Given the description of an element on the screen output the (x, y) to click on. 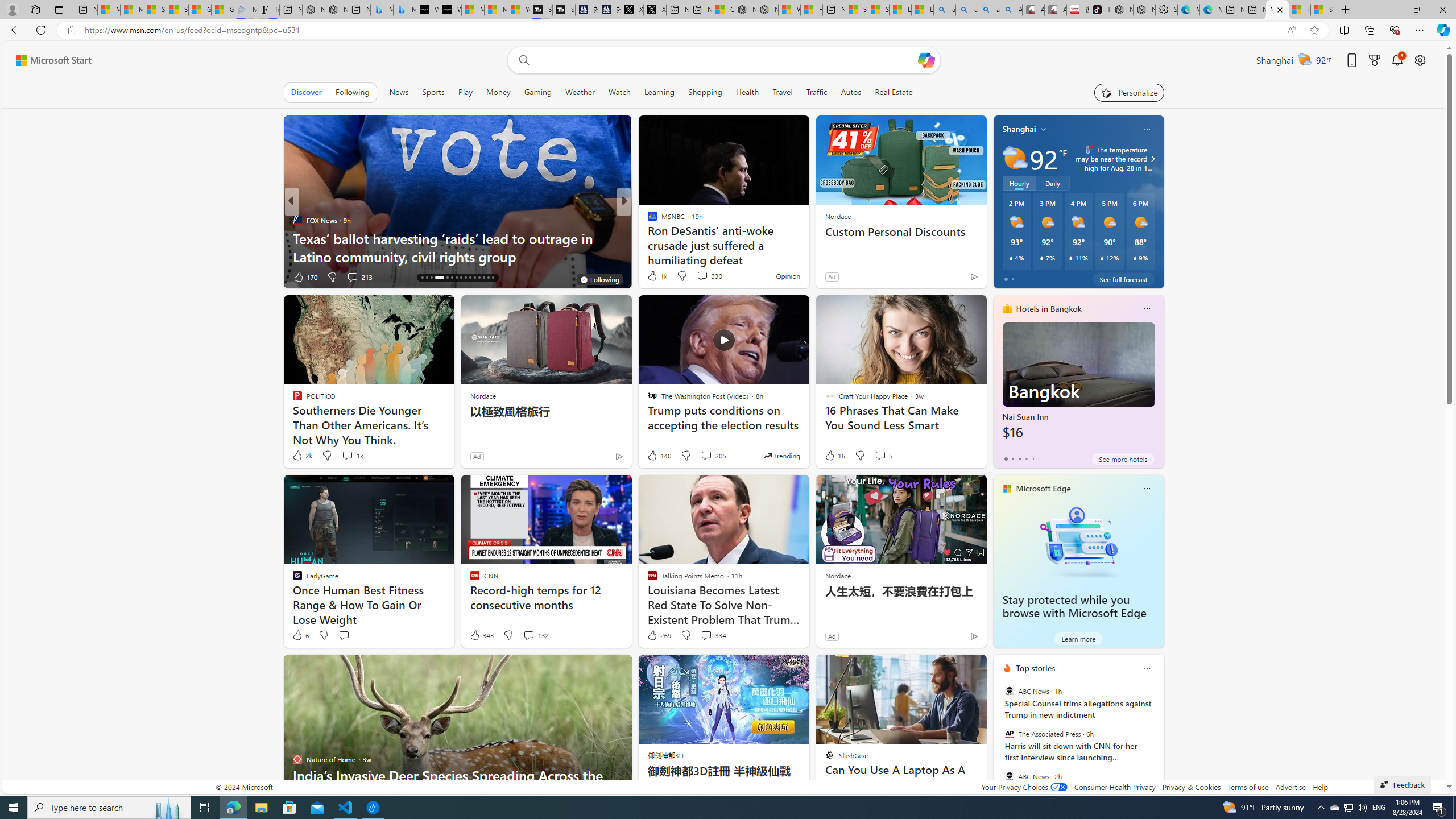
Health (746, 92)
Play (465, 92)
View comments 6 Comment (705, 276)
2k Like (301, 455)
LGBTQ Nation (647, 219)
Microsoft Edge (1043, 488)
Custom Personal Discounts (900, 232)
